Given the description of an element on the screen output the (x, y) to click on. 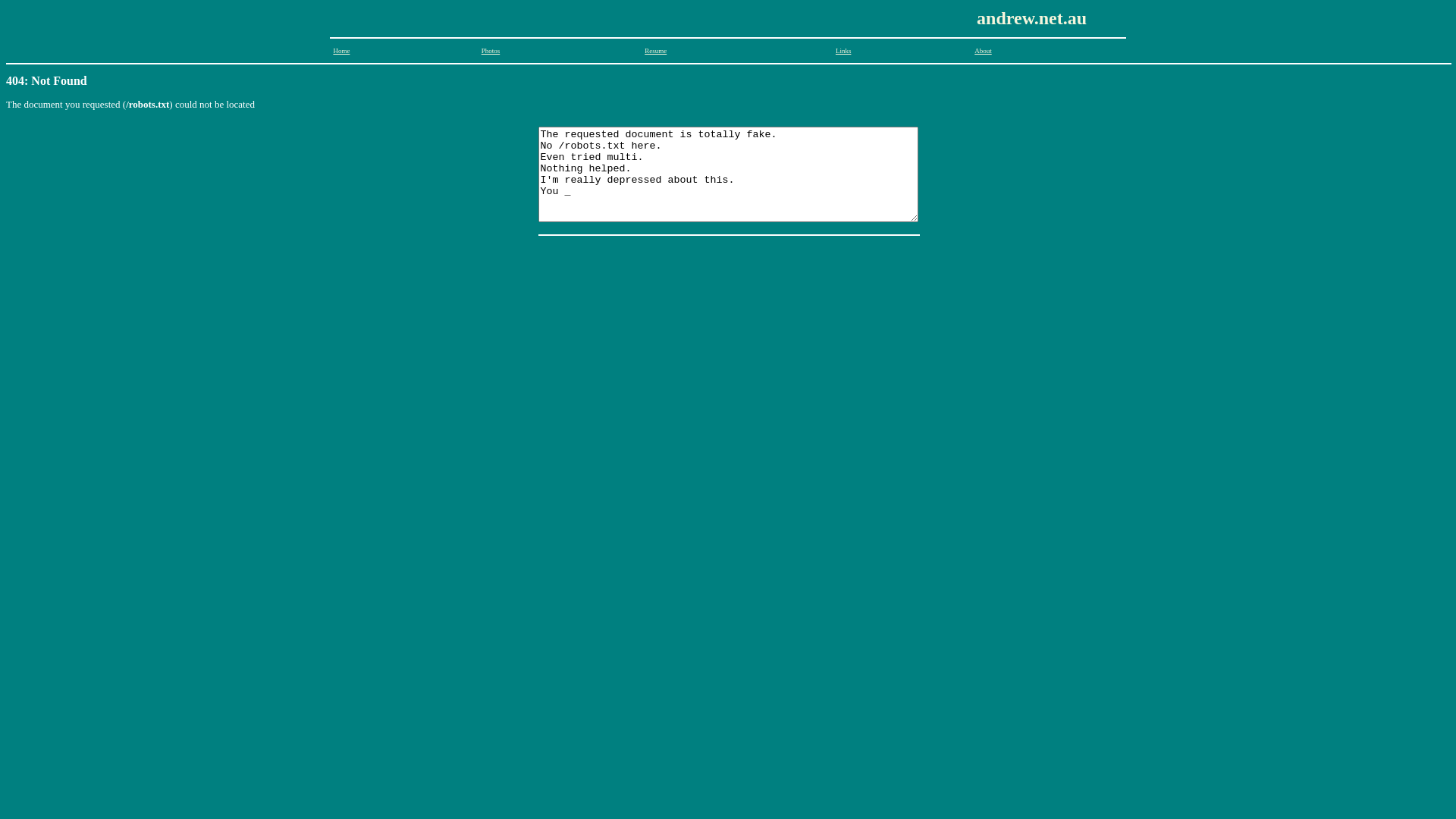
About Element type: text (982, 50)
Photos Element type: text (490, 50)
Home Element type: text (340, 50)
Links Element type: text (843, 50)
Resume Element type: text (655, 50)
